Given the description of an element on the screen output the (x, y) to click on. 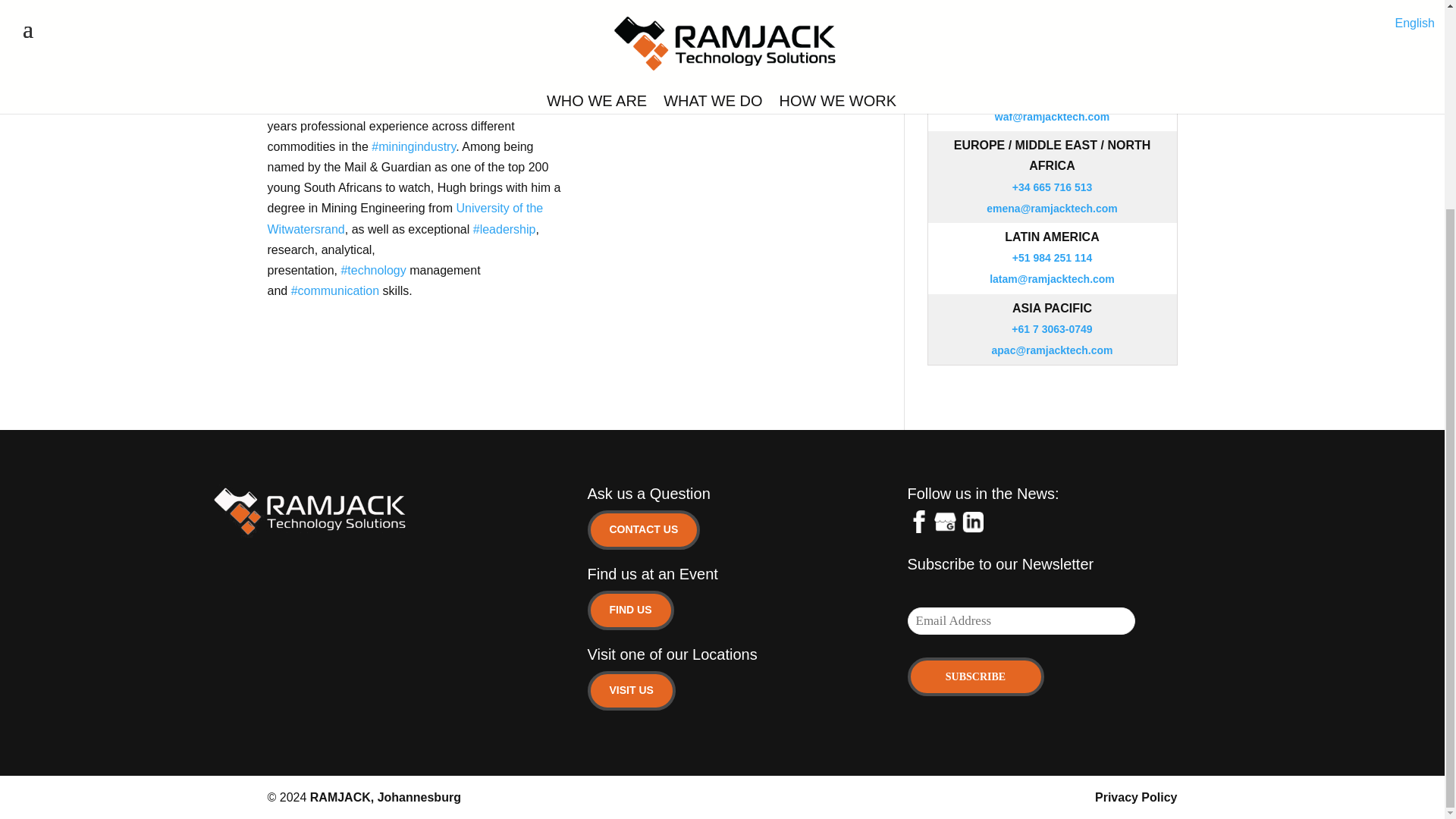
SUBSCRIBE (975, 676)
LinkedIn (970, 521)
Google My Business (945, 521)
Facebook (918, 521)
